Given the description of an element on the screen output the (x, y) to click on. 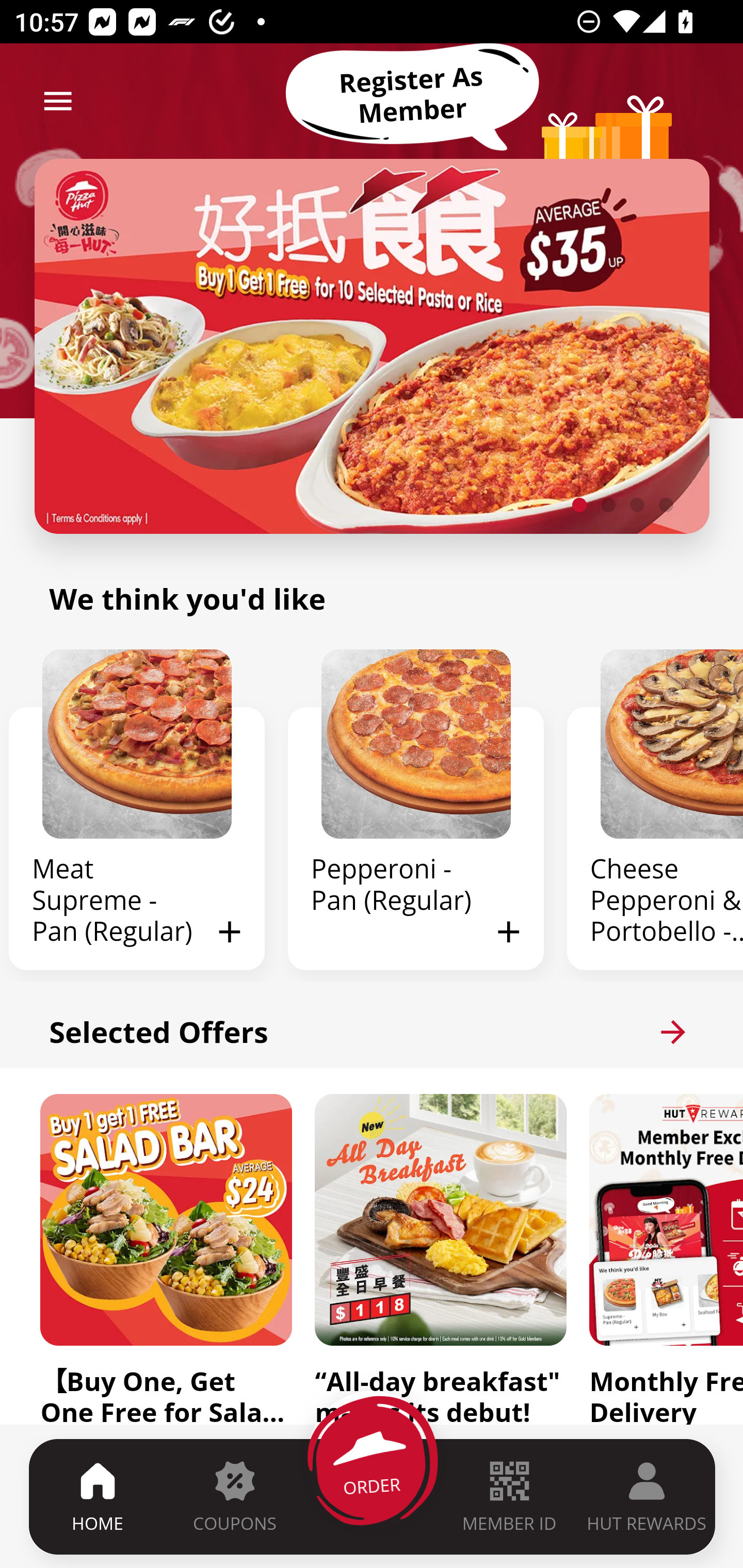
Register As Member (411, 95)
menu (58, 100)
arrow_forward (672, 1031)
HOME (97, 1496)
COUPONS (234, 1496)
ORDER (372, 1496)
MEMBER ID (509, 1496)
HUT REWARDS (647, 1496)
